Given the description of an element on the screen output the (x, y) to click on. 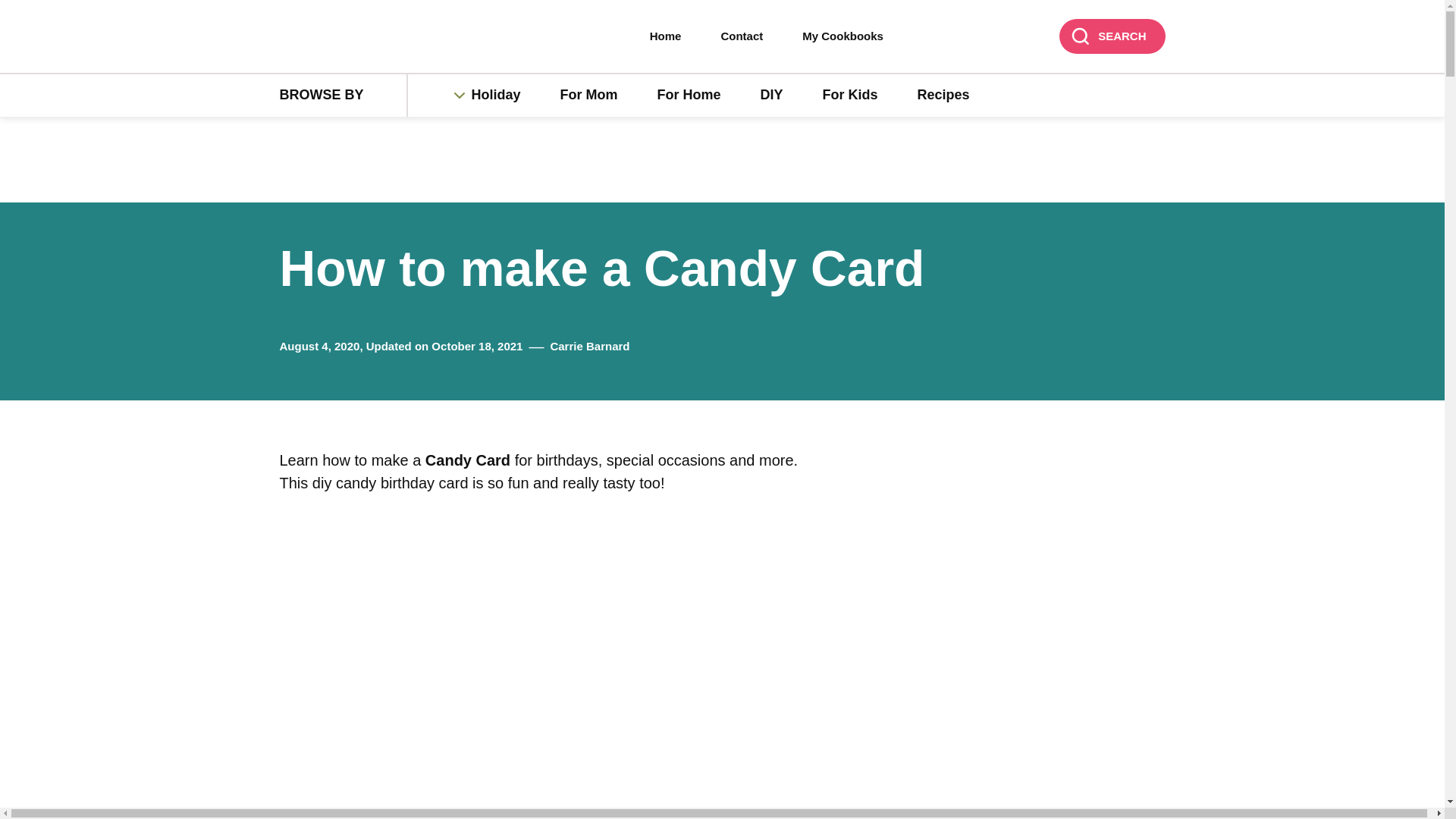
Contact (741, 36)
BROWSE BY (342, 95)
For Mom (588, 95)
Recipes (944, 95)
Holiday (504, 95)
My Cookbooks (842, 36)
For Home (689, 95)
One Crazy Mom (376, 37)
Home (665, 36)
SEARCH (1111, 36)
